Given the description of an element on the screen output the (x, y) to click on. 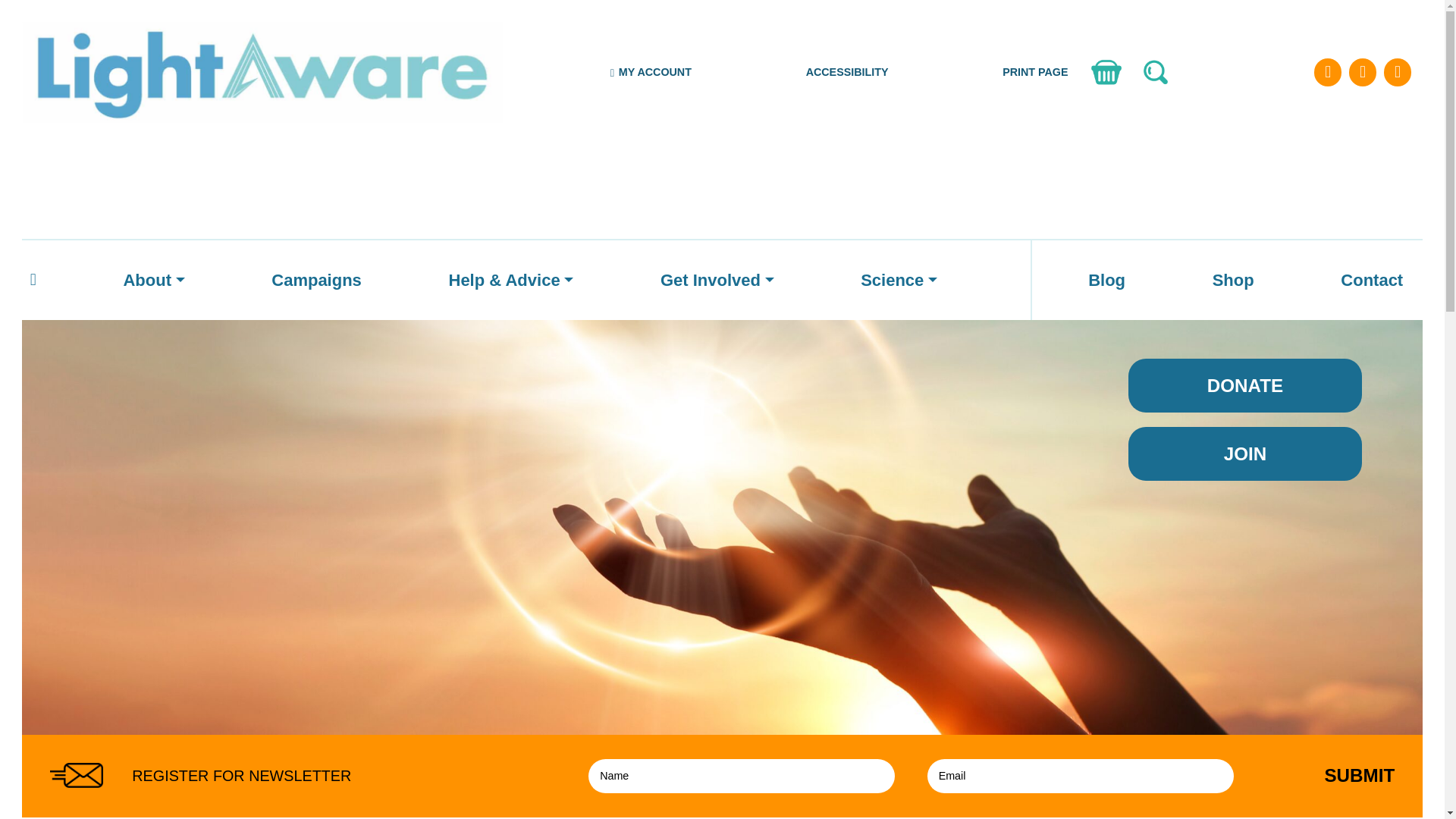
Get Involved (717, 280)
PRINT PAGE (1035, 72)
Campaigns (316, 280)
ACCESSIBILITY (847, 72)
Science (897, 280)
About (153, 280)
MY ACCOUNT (650, 72)
